Given the description of an element on the screen output the (x, y) to click on. 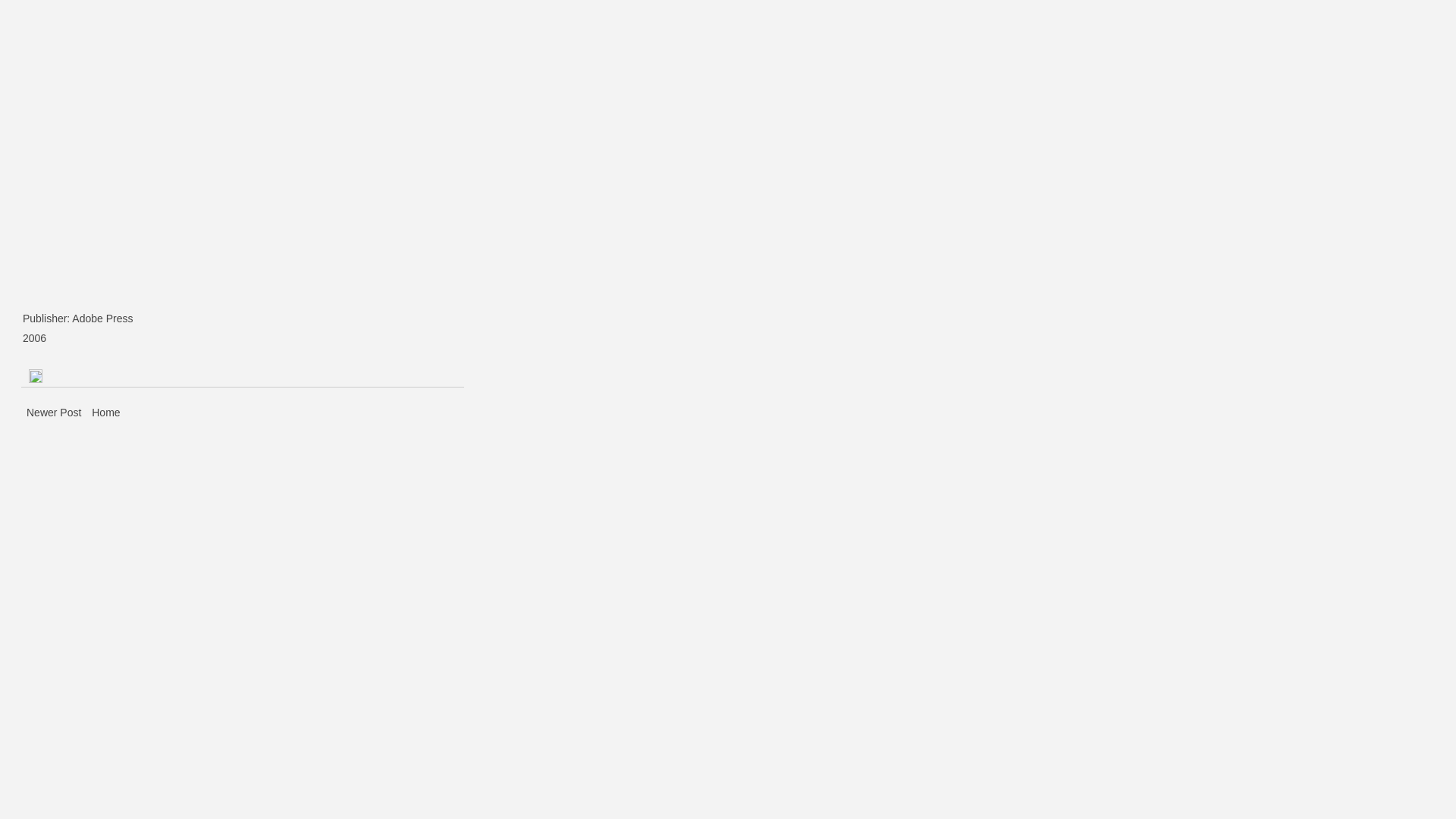
List Element type: text (49, 131)
Newer Post Element type: text (54, 412)
Edit Post Element type: hover (35, 375)
shuets.udono.cc Element type: text (88, 38)
Home Element type: text (105, 412)
